Given the description of an element on the screen output the (x, y) to click on. 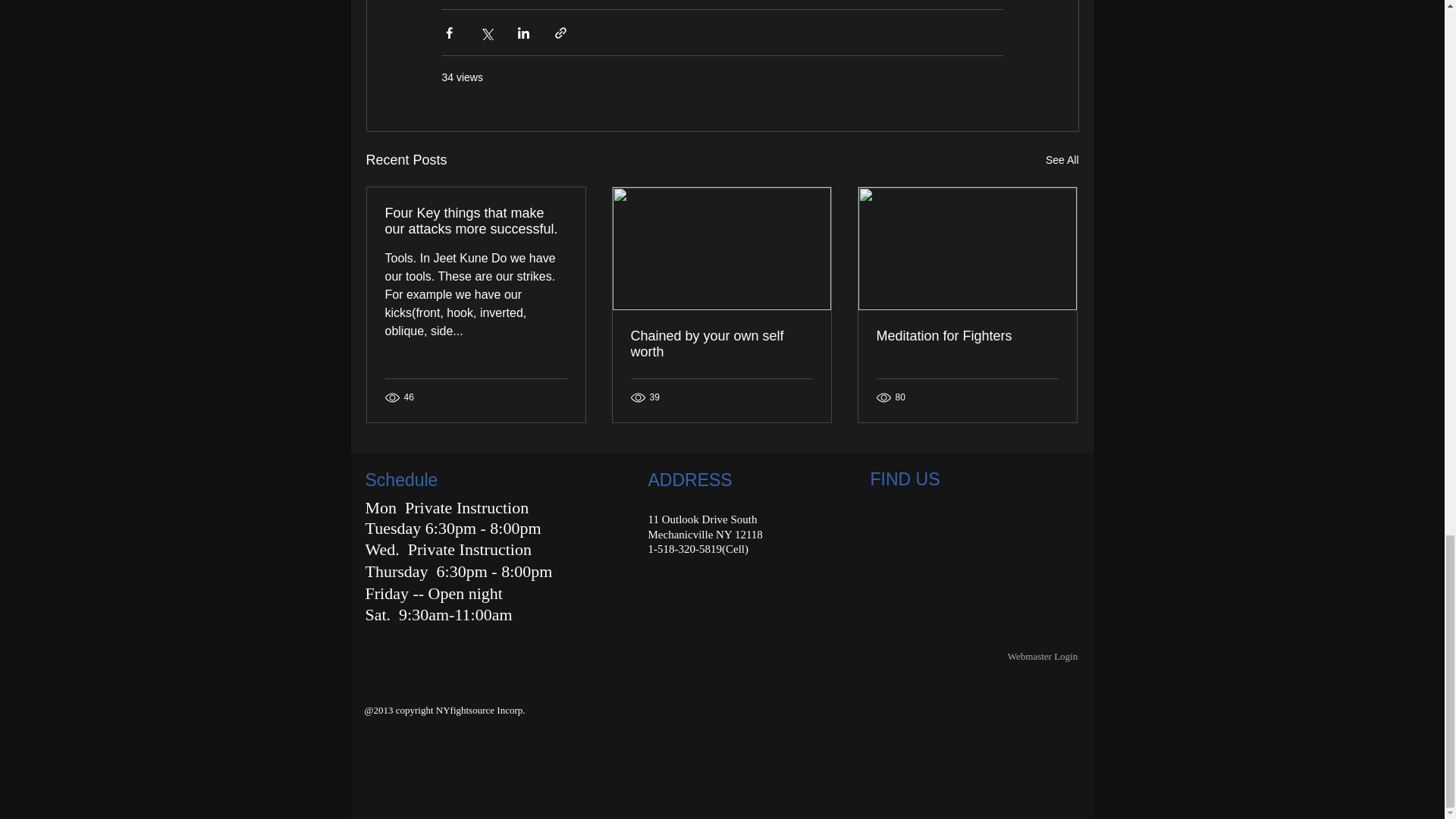
See All (1061, 160)
Meditation for Fighters (967, 335)
Webmaster Login (1041, 657)
Chained by your own self worth (721, 344)
Four Key things that make our attacks more successful. (476, 221)
